Given the description of an element on the screen output the (x, y) to click on. 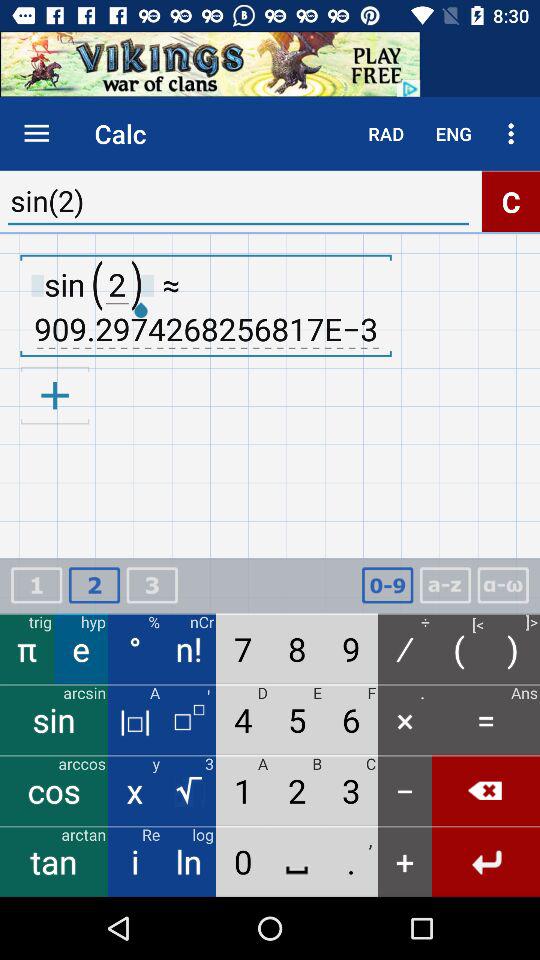
button a-z (445, 585)
